Given the description of an element on the screen output the (x, y) to click on. 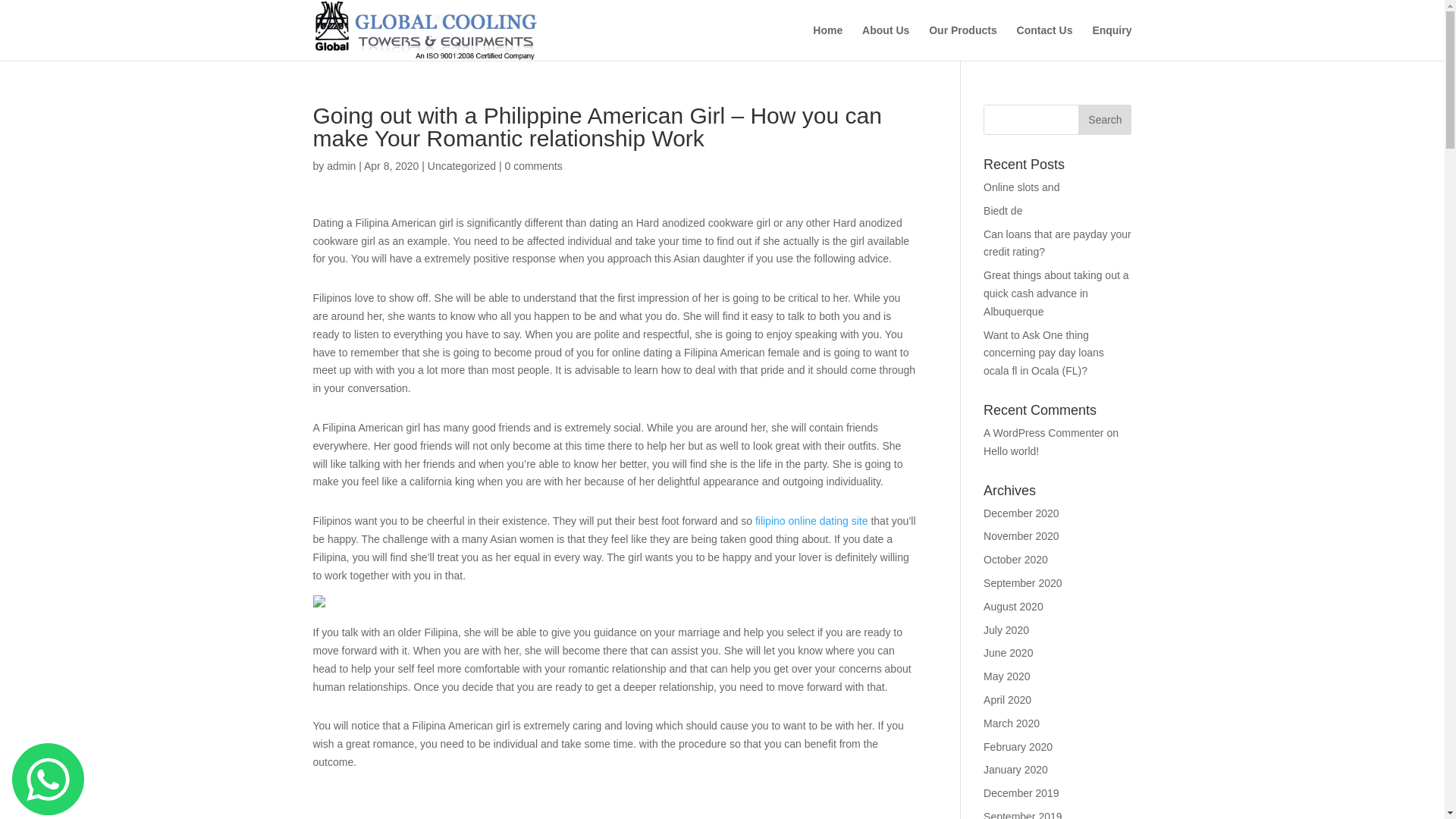
May 2020 (1006, 676)
September 2019 (1023, 814)
A WordPress Commenter (1043, 432)
Uncategorized (462, 165)
Enquiry (1111, 42)
June 2020 (1008, 653)
Posts by admin (340, 165)
April 2020 (1007, 699)
Online slots and (1021, 186)
admin (340, 165)
December 2019 (1021, 793)
Search (1104, 119)
March 2020 (1011, 723)
Our Products (961, 42)
